Given the description of an element on the screen output the (x, y) to click on. 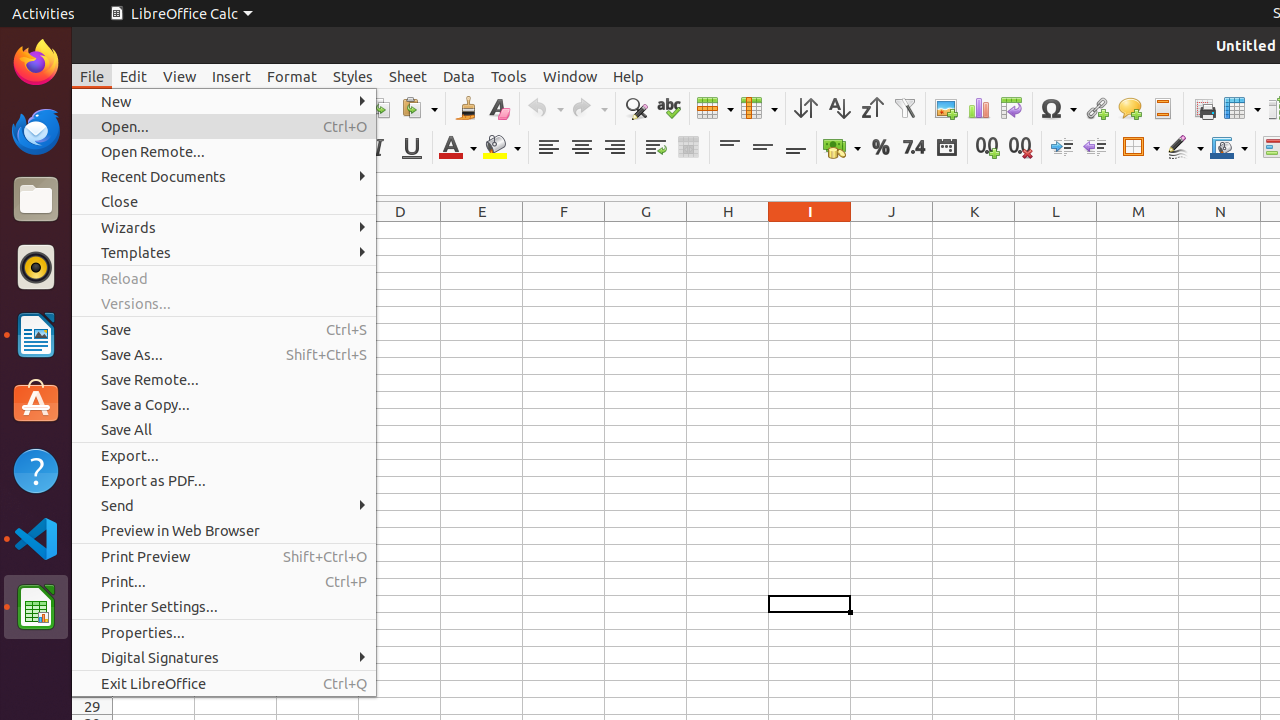
K1 Element type: table-cell (974, 230)
Versions... Element type: menu-item (224, 303)
Window Element type: menu (570, 76)
Underline Element type: push-button (411, 147)
Decrease Element type: push-button (1094, 147)
